Given the description of an element on the screen output the (x, y) to click on. 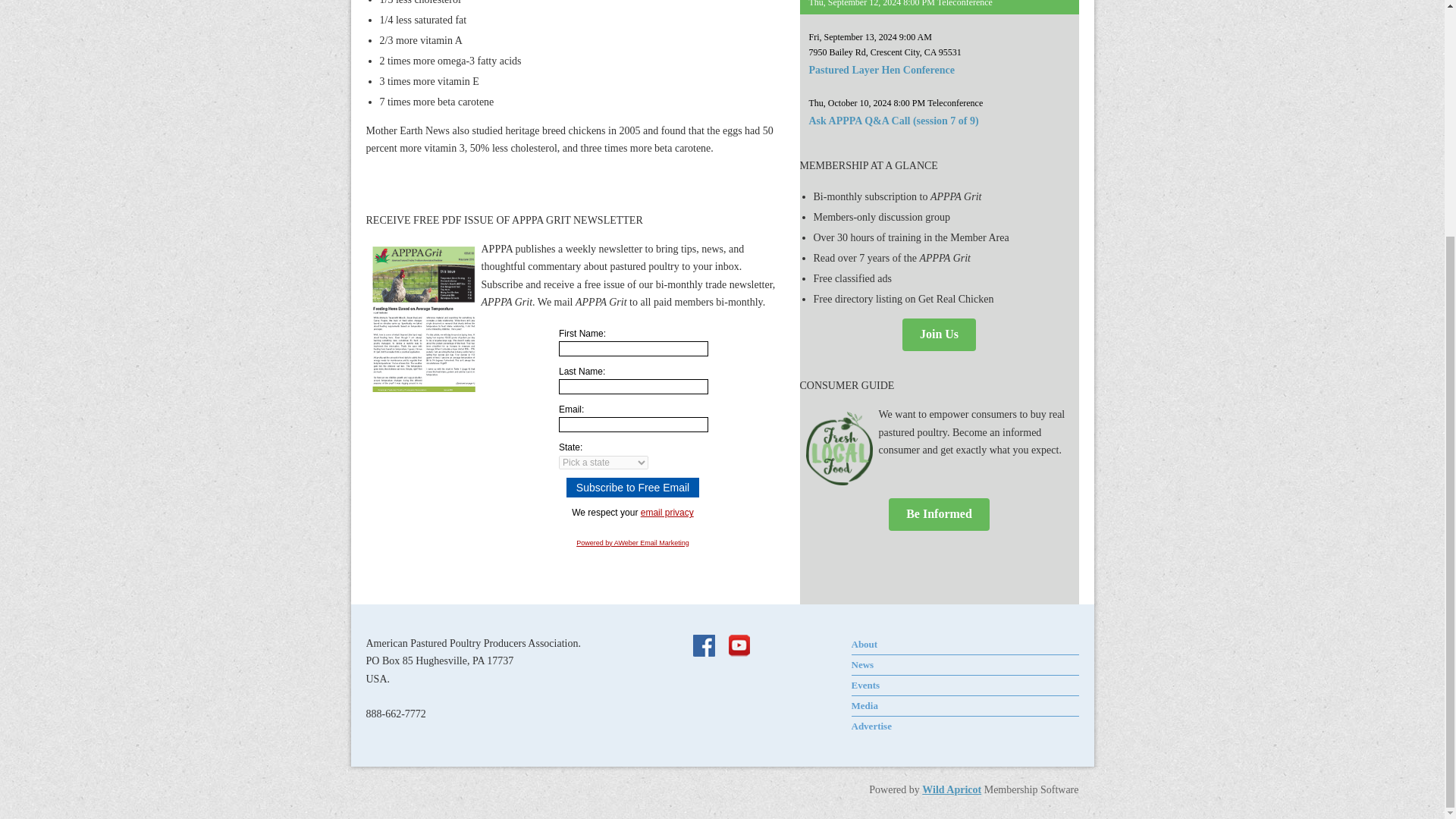
Join Us (938, 334)
Advertise (870, 726)
email privacy (667, 511)
Subscribe to Free Email (632, 487)
Facebook (705, 646)
Privacy Policy (667, 511)
Powered by AWeber Email Marketing (632, 542)
AWeber Email Marketing (632, 542)
Media (863, 705)
Subscribe to Free Email (632, 487)
